Given the description of an element on the screen output the (x, y) to click on. 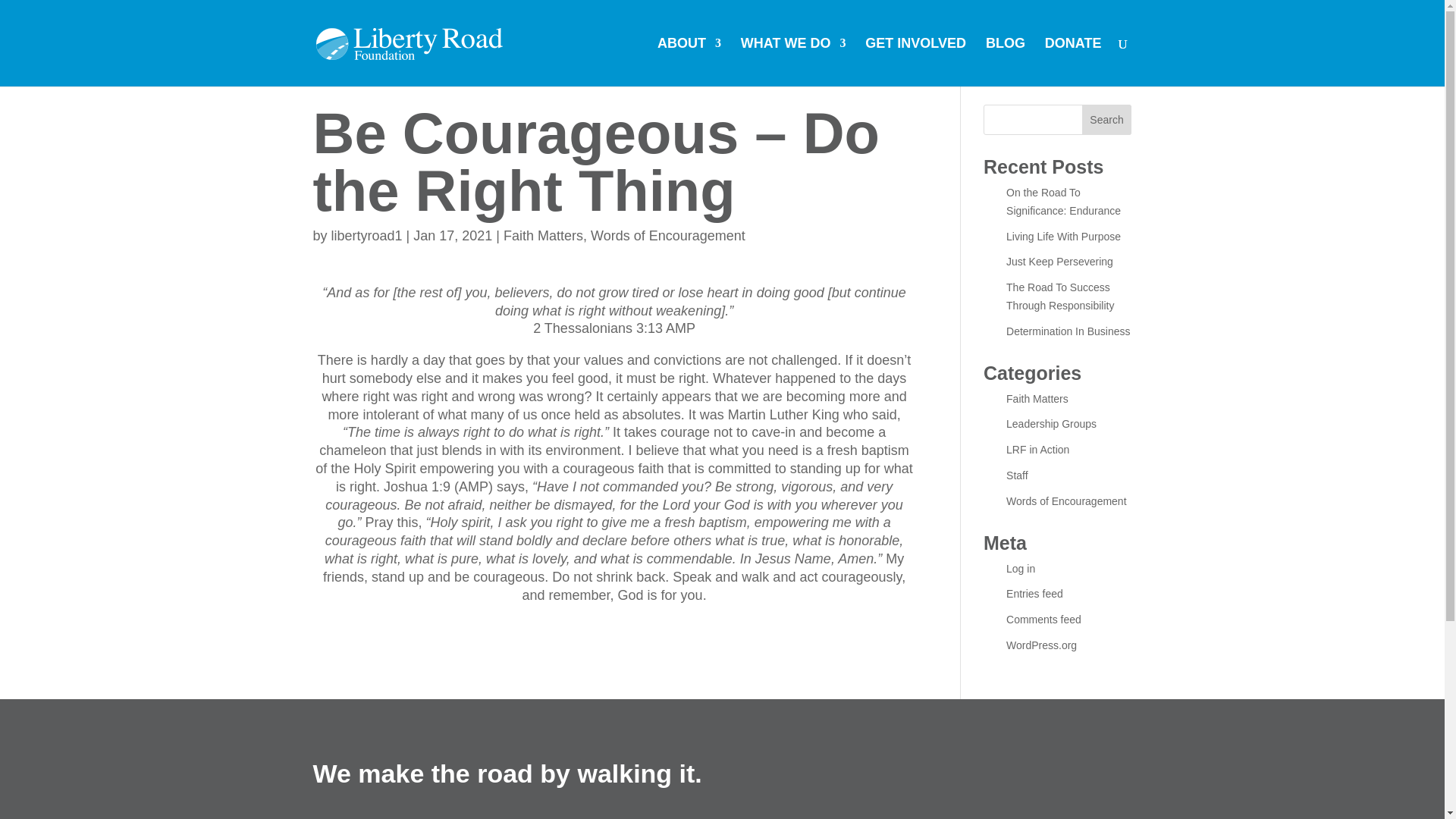
Posts by libertyroad1 (367, 235)
ABOUT (689, 61)
Search (1106, 119)
Living Life With Purpose (1063, 236)
Determination In Business (1067, 331)
The Road To Success Through Responsibility (1059, 296)
WHAT WE DO (793, 61)
GET INVOLVED (915, 61)
Just Keep Persevering (1059, 261)
Faith Matters (543, 235)
libertyroad1 (367, 235)
Search (1106, 119)
DONATE (1073, 61)
On the Road To Significance: Endurance (1063, 201)
Words of Encouragement (668, 235)
